Given the description of an element on the screen output the (x, y) to click on. 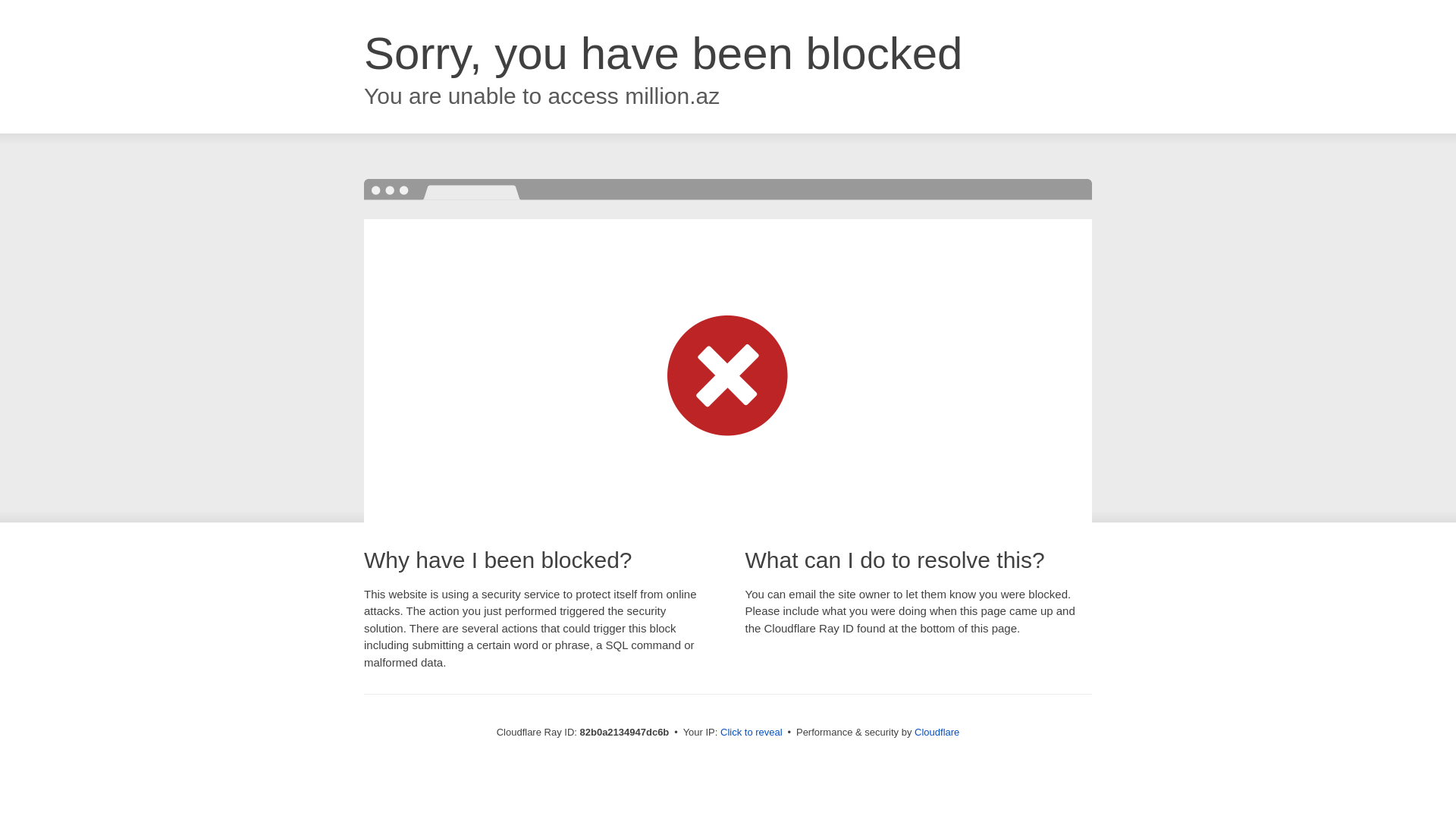
Click to reveal Element type: text (751, 732)
Cloudflare Element type: text (936, 731)
